Given the description of an element on the screen output the (x, y) to click on. 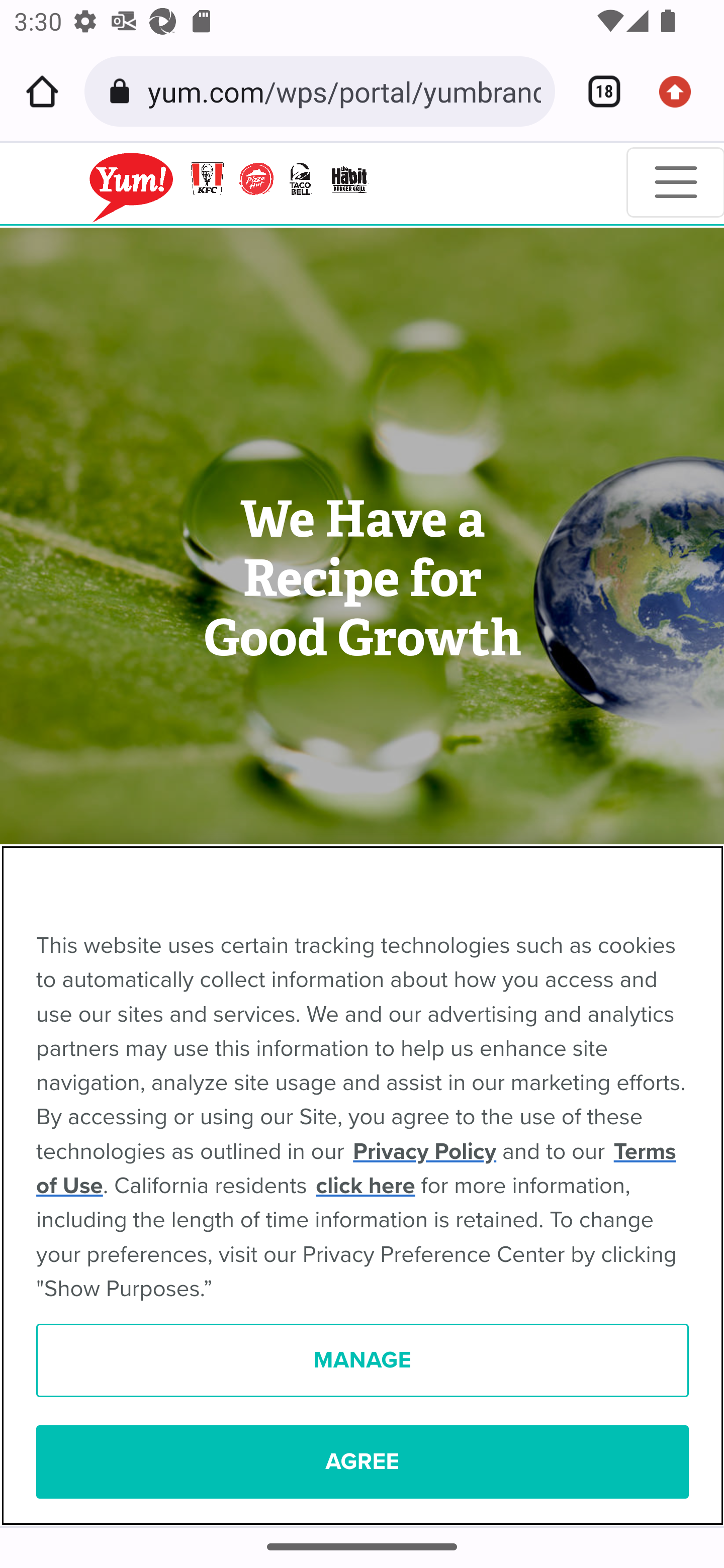
Home (42, 91)
Connection is secure (122, 91)
Switch or close tabs (597, 91)
Update available. More options (681, 91)
yum.com/wps/portal/yumbrands/Yumbrands (343, 90)
javascript:void(0); (202, 183)
Toggle navigation (675, 181)
We Have a Recipe for Good Growth (361, 579)
Terms of Use (355, 1168)
Privacy Policy (424, 1151)
click here (365, 1186)
MANAGE (362, 1360)
AGREE (362, 1462)
